Given the description of an element on the screen output the (x, y) to click on. 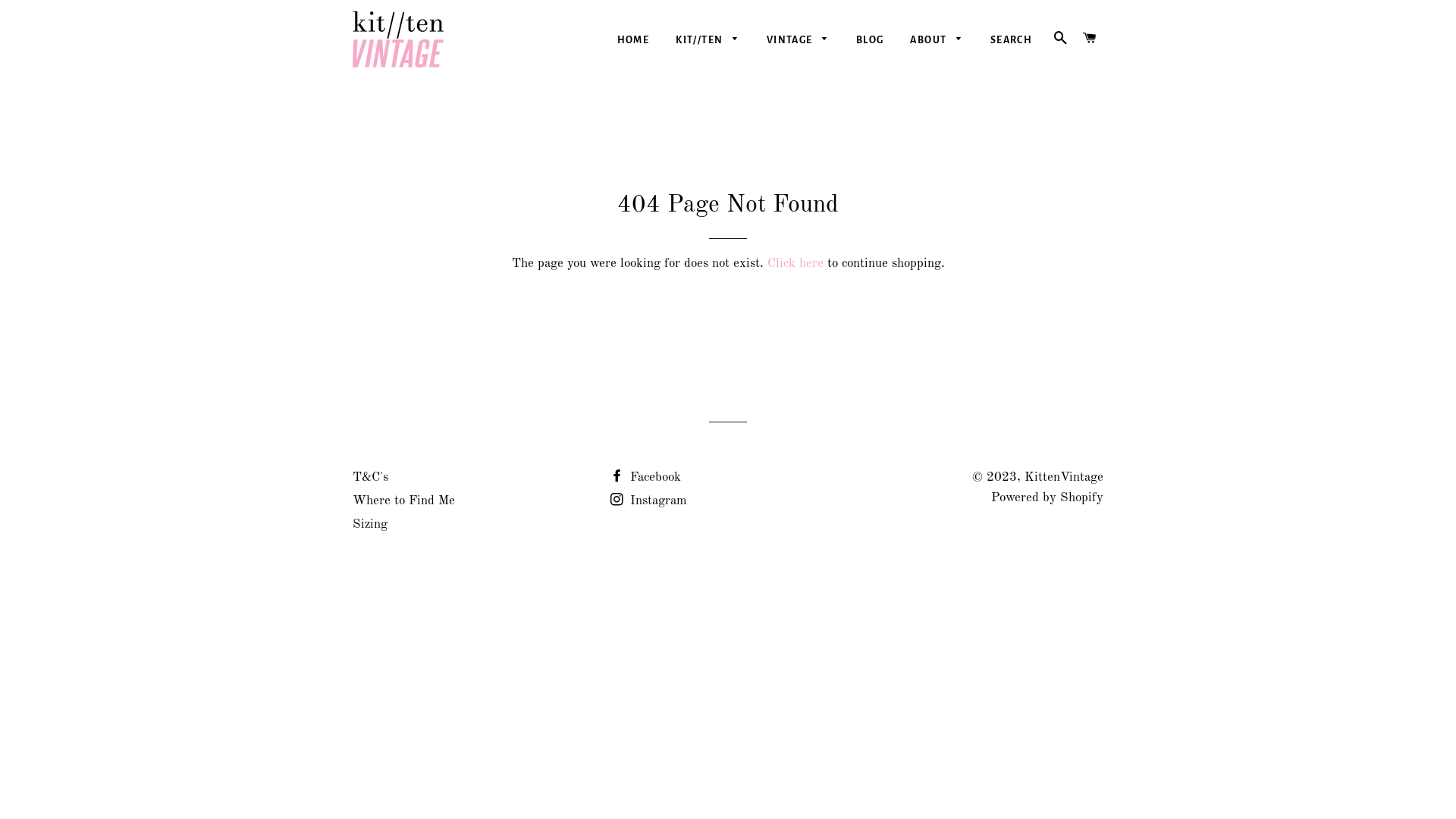
HOME Element type: text (633, 40)
SEARCH Element type: text (1011, 40)
KIT//TEN Element type: text (707, 40)
CART Element type: text (1090, 39)
Facebook Element type: text (645, 476)
Instagram Element type: text (648, 500)
BLOG Element type: text (869, 40)
T&C's Element type: text (370, 476)
KittenVintage Element type: text (1063, 476)
Powered by Shopify Element type: text (1047, 497)
SEARCH Element type: text (1060, 39)
VINTAGE Element type: text (797, 40)
Where to Find Me Element type: text (403, 500)
Sizing Element type: text (369, 523)
ABOUT Element type: text (936, 40)
Click here Element type: text (795, 263)
